Given the description of an element on the screen output the (x, y) to click on. 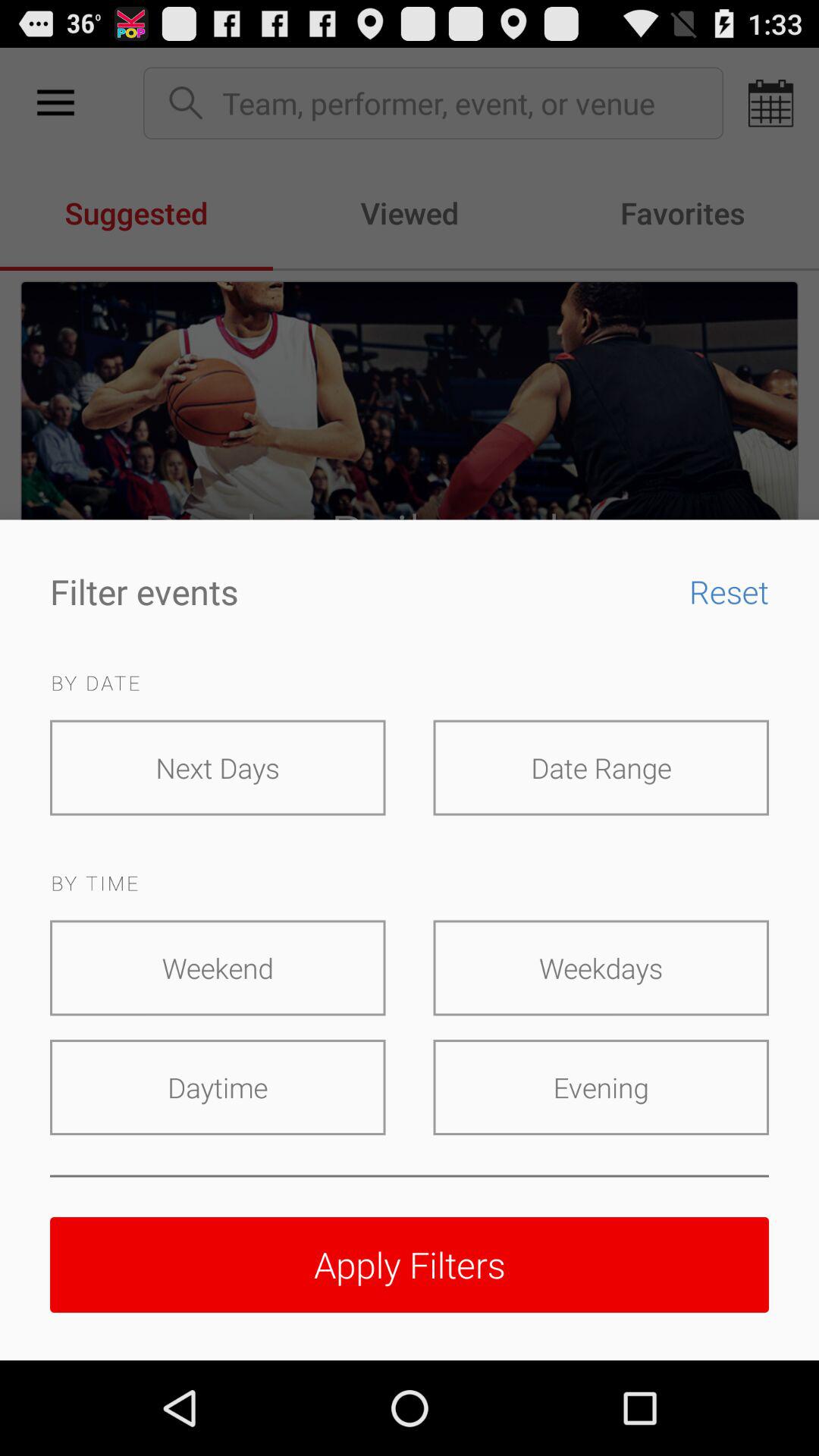
select weekend icon (217, 967)
